Given the description of an element on the screen output the (x, y) to click on. 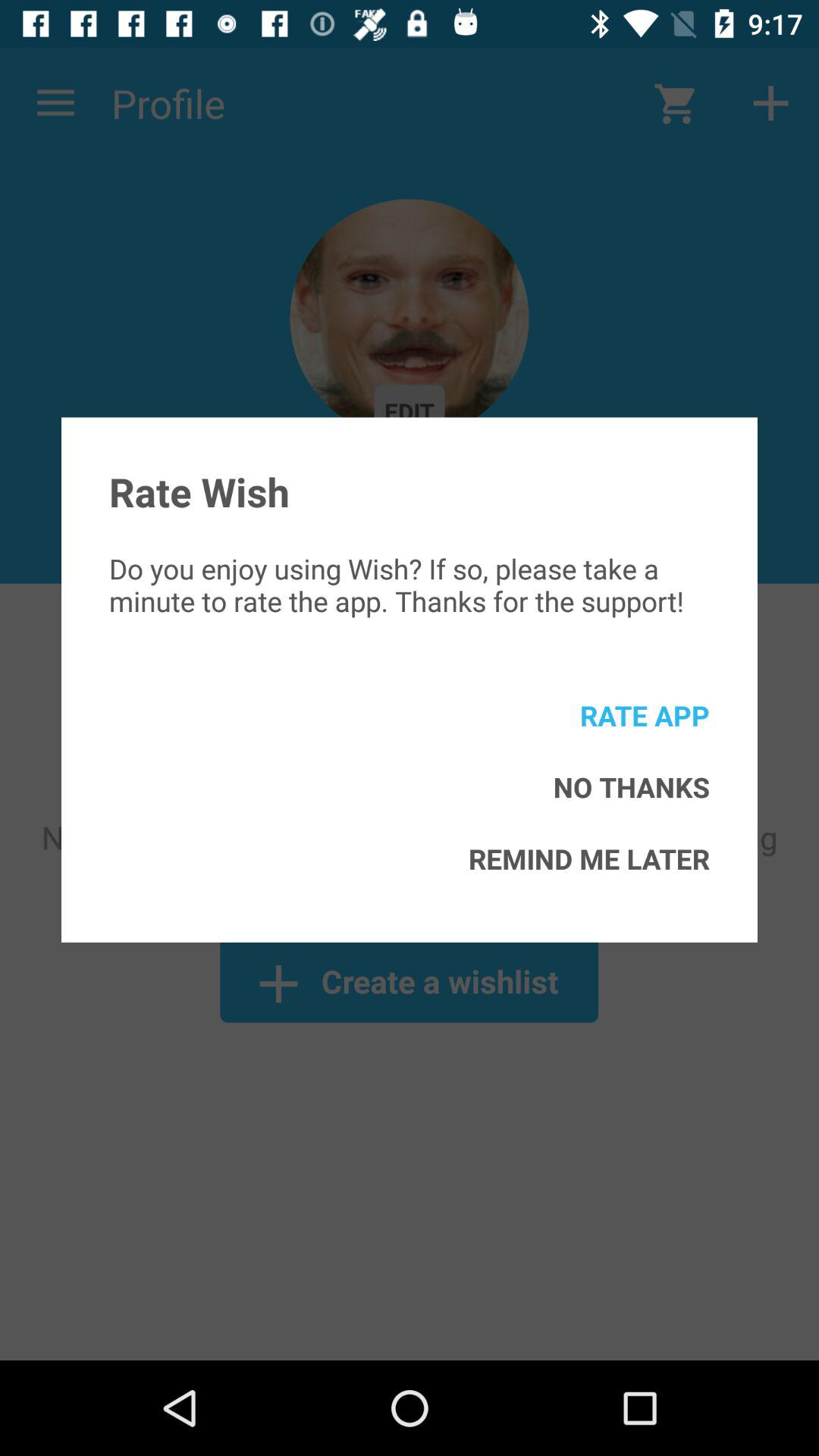
turn off icon above the remind me later (631, 786)
